Given the description of an element on the screen output the (x, y) to click on. 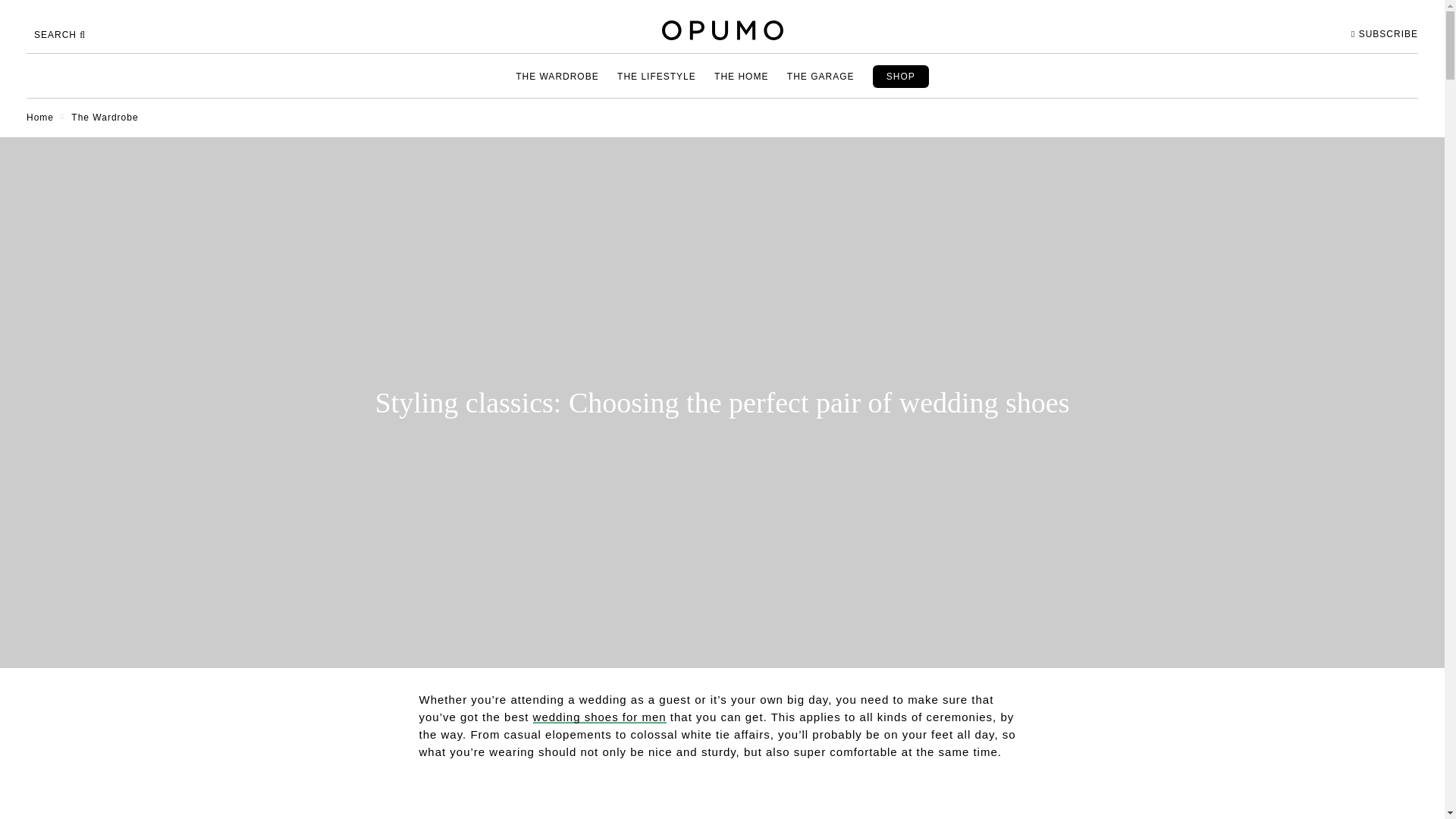
THE WARDROBE (557, 75)
wedding shoes for men (599, 716)
The Wardrobe (104, 117)
Go to Home (39, 117)
Home (39, 117)
THE HOME (741, 75)
THE LIFESTYLE (656, 75)
SHOP (900, 75)
OPUMO (722, 30)
SUBSCRIBE (1384, 34)
